Given the description of an element on the screen output the (x, y) to click on. 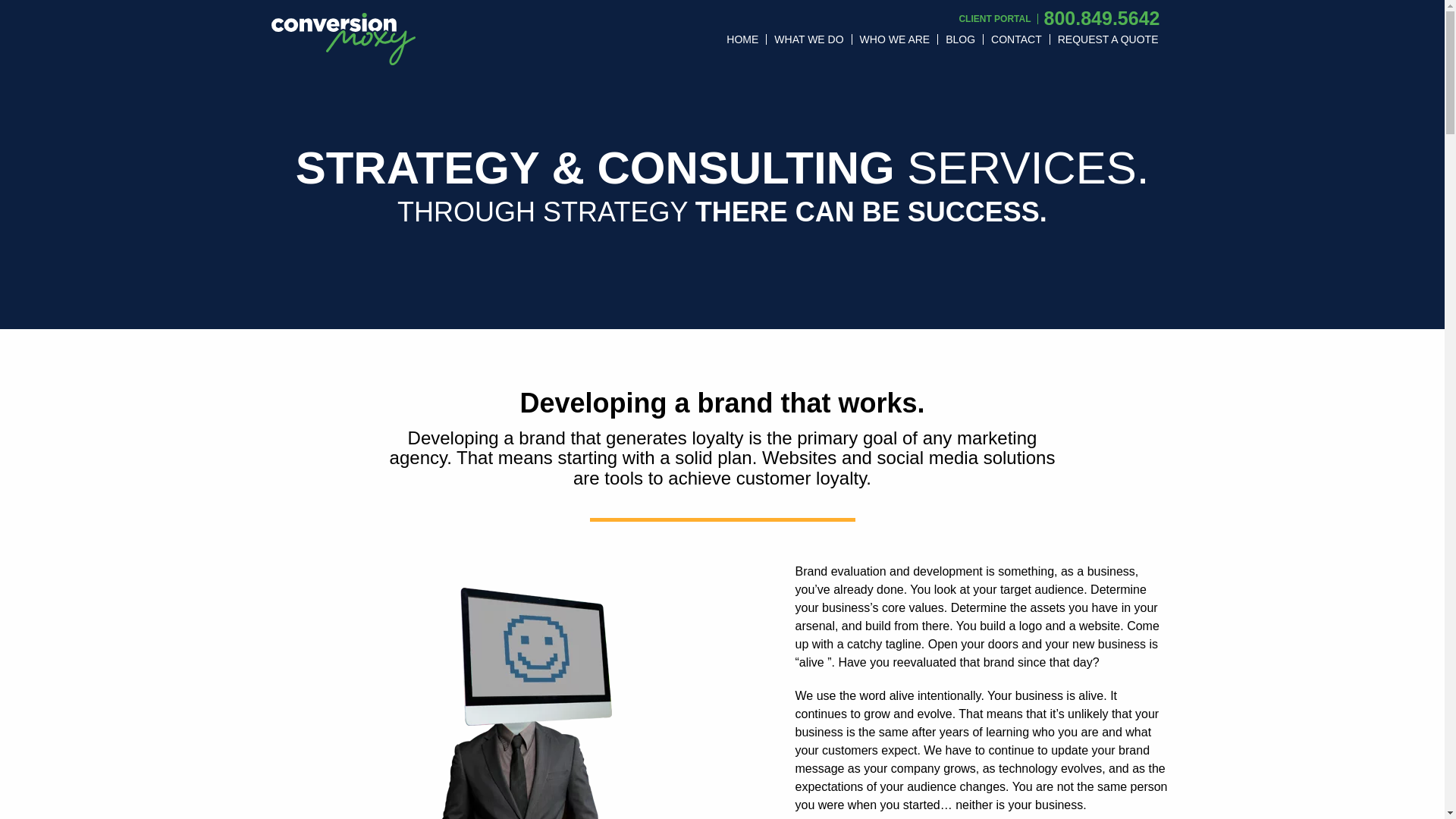
REQUEST A QUOTE (1107, 39)
BLOG (960, 39)
800.849.5642 (1102, 17)
WHO WE ARE (895, 39)
WHAT WE DO (809, 39)
CONTACT (1016, 39)
HOME (743, 39)
CLIENT PORTAL (994, 18)
